Given the description of an element on the screen output the (x, y) to click on. 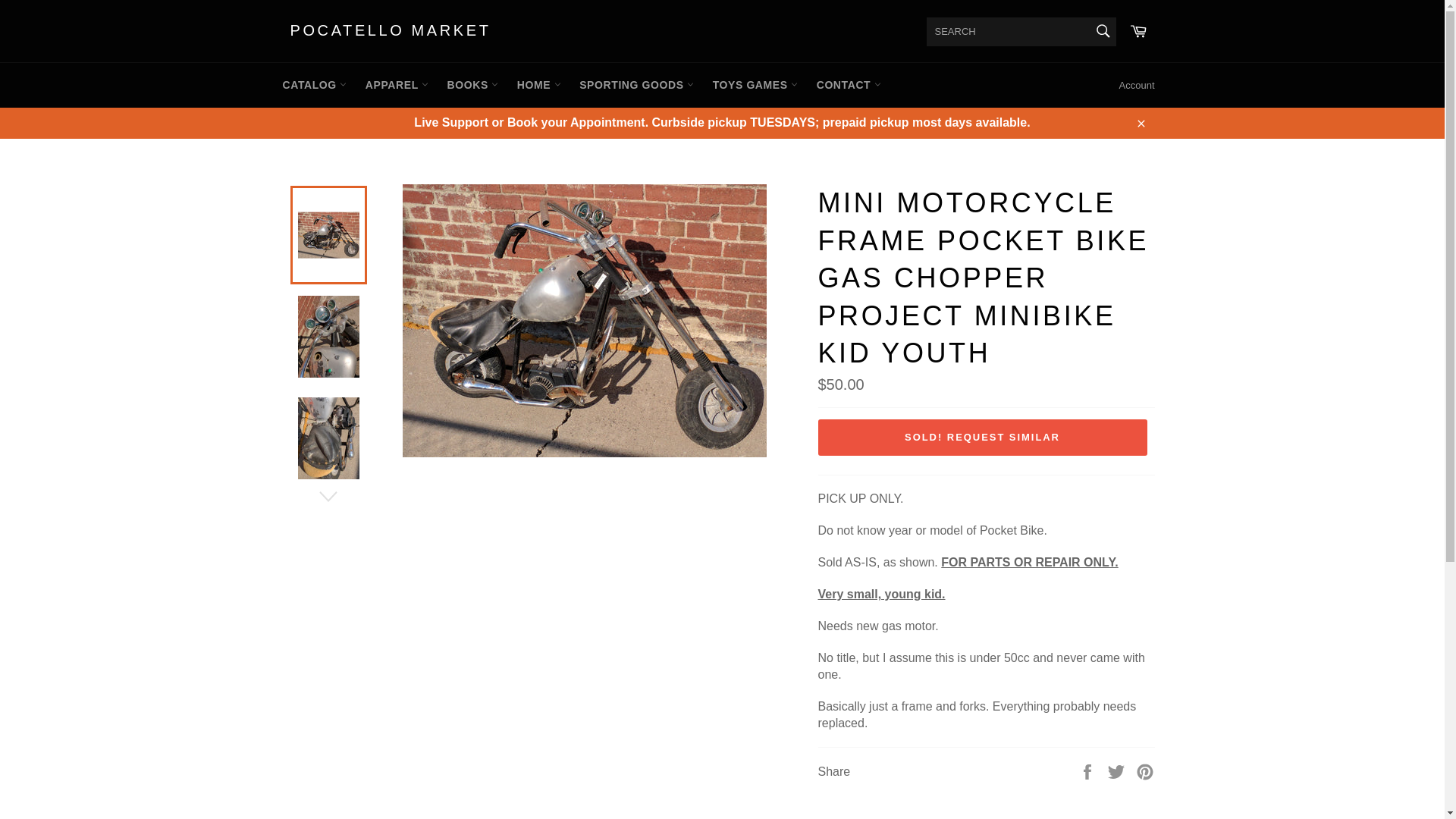
Tweet on Twitter (1117, 770)
Share on Facebook (1088, 770)
Pin on Pinterest (1144, 770)
